Given the description of an element on the screen output the (x, y) to click on. 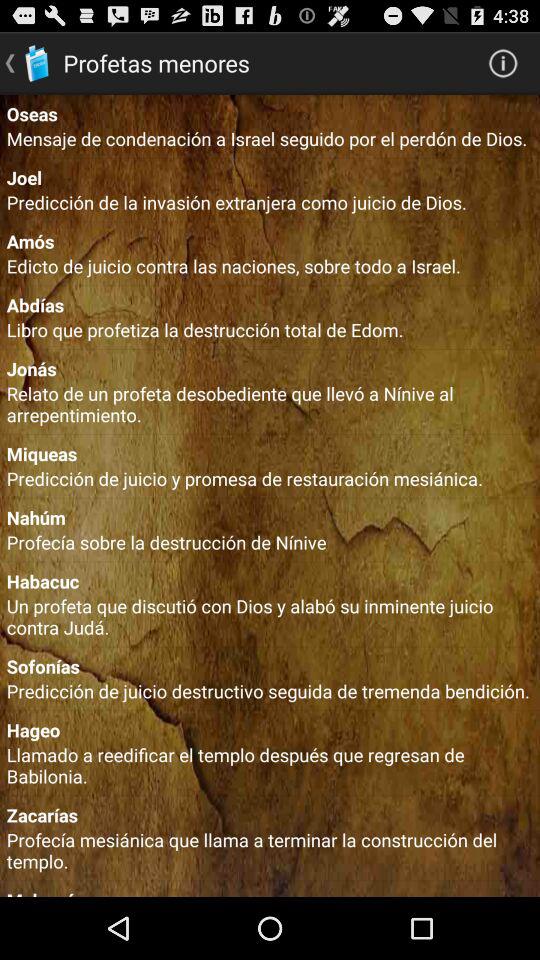
open item below edicto de juicio (269, 304)
